Given the description of an element on the screen output the (x, y) to click on. 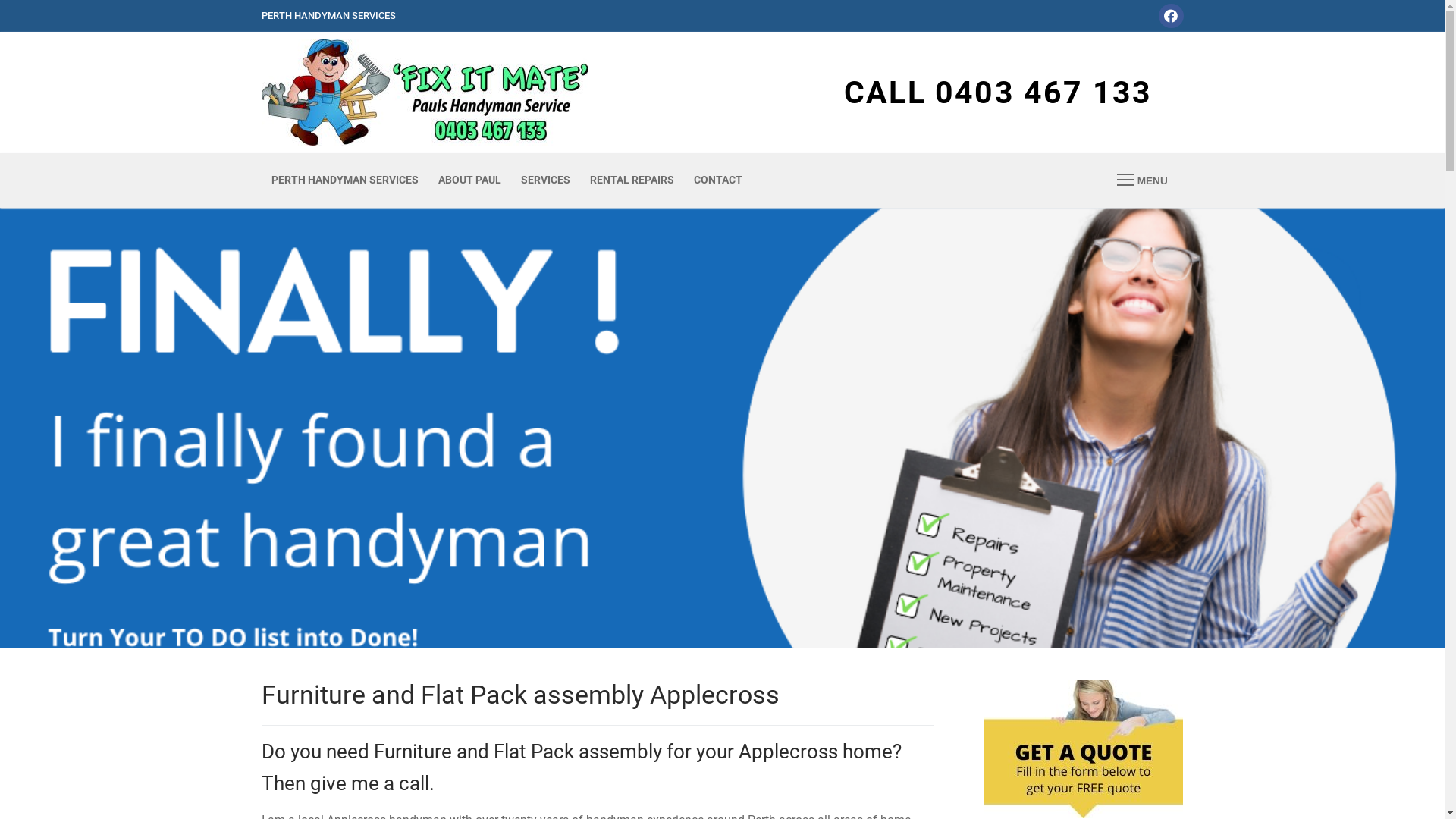
RENTAL REPAIRS Element type: text (631, 180)
CONTACT Element type: text (718, 180)
Facebook Element type: hover (1170, 15)
ABOUT PAUL Element type: text (468, 180)
CALL 0403 467 133 Element type: text (997, 92)
MENU Element type: text (1142, 180)
SERVICES Element type: text (545, 180)
PERTH HANDYMAN SERVICES Element type: text (343, 180)
